Given the description of an element on the screen output the (x, y) to click on. 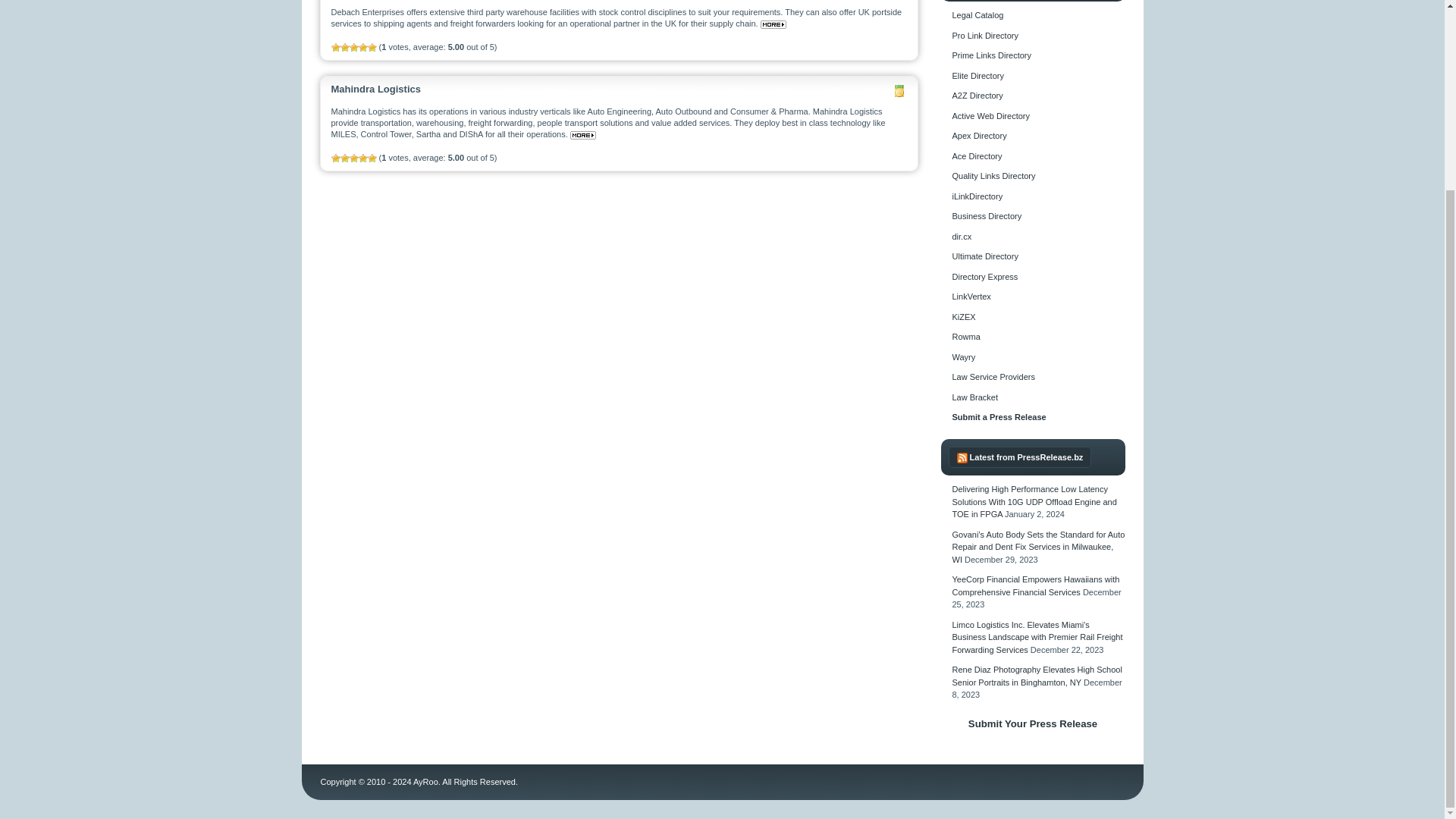
Law Bracket (975, 397)
Pro Link Directory (984, 35)
Latest from PressRelease.bz (1026, 456)
Active Web Directory (991, 115)
Quality Links Directory (993, 175)
Wayry (963, 356)
Ace Directory (977, 155)
5 Stars (370, 157)
Ultimate Directory (984, 256)
3 Stars (353, 47)
Directory Express (984, 276)
Business Directory (987, 215)
2 Stars (344, 157)
3 Stars (353, 157)
